Given the description of an element on the screen output the (x, y) to click on. 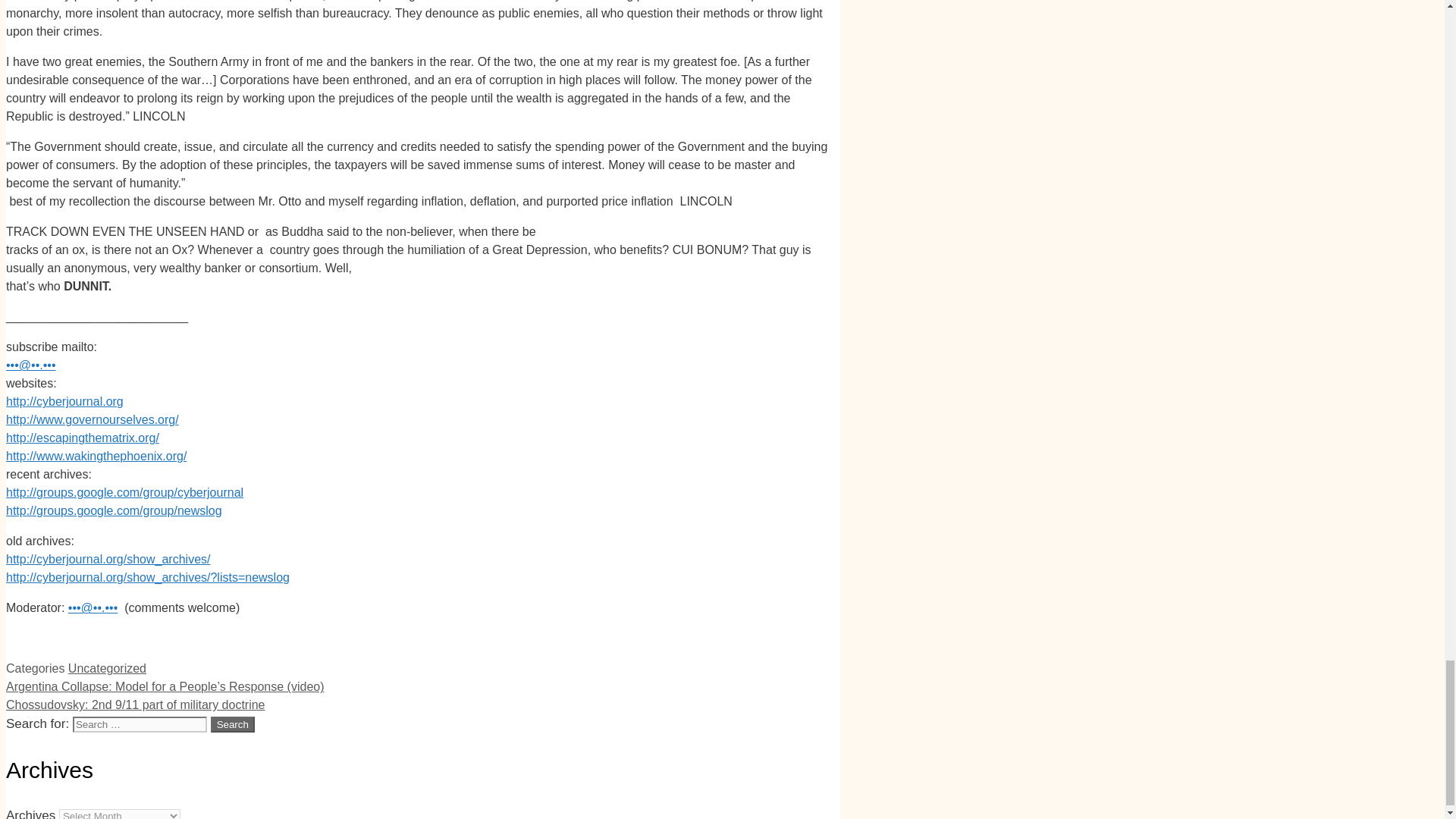
Search for: (139, 724)
Search (232, 724)
Search (232, 724)
Uncategorized (107, 667)
Search (232, 724)
